Given the description of an element on the screen output the (x, y) to click on. 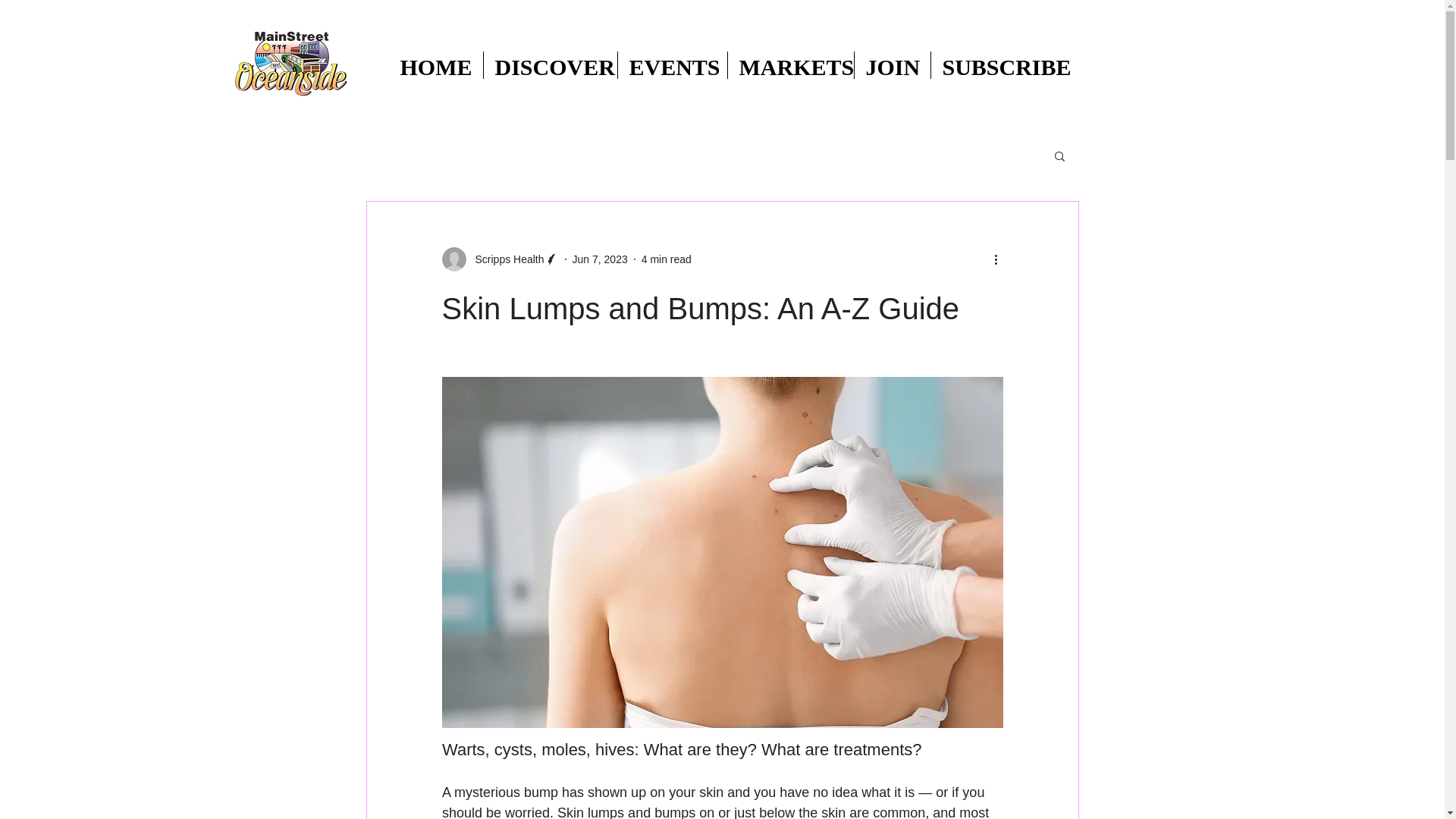
Scripps Health (504, 259)
4C-LG-CA.JPG (290, 63)
Jun 7, 2023 (599, 259)
SUBSCRIBE (1001, 64)
HOME (434, 64)
4 min read (666, 259)
